Given the description of an element on the screen output the (x, y) to click on. 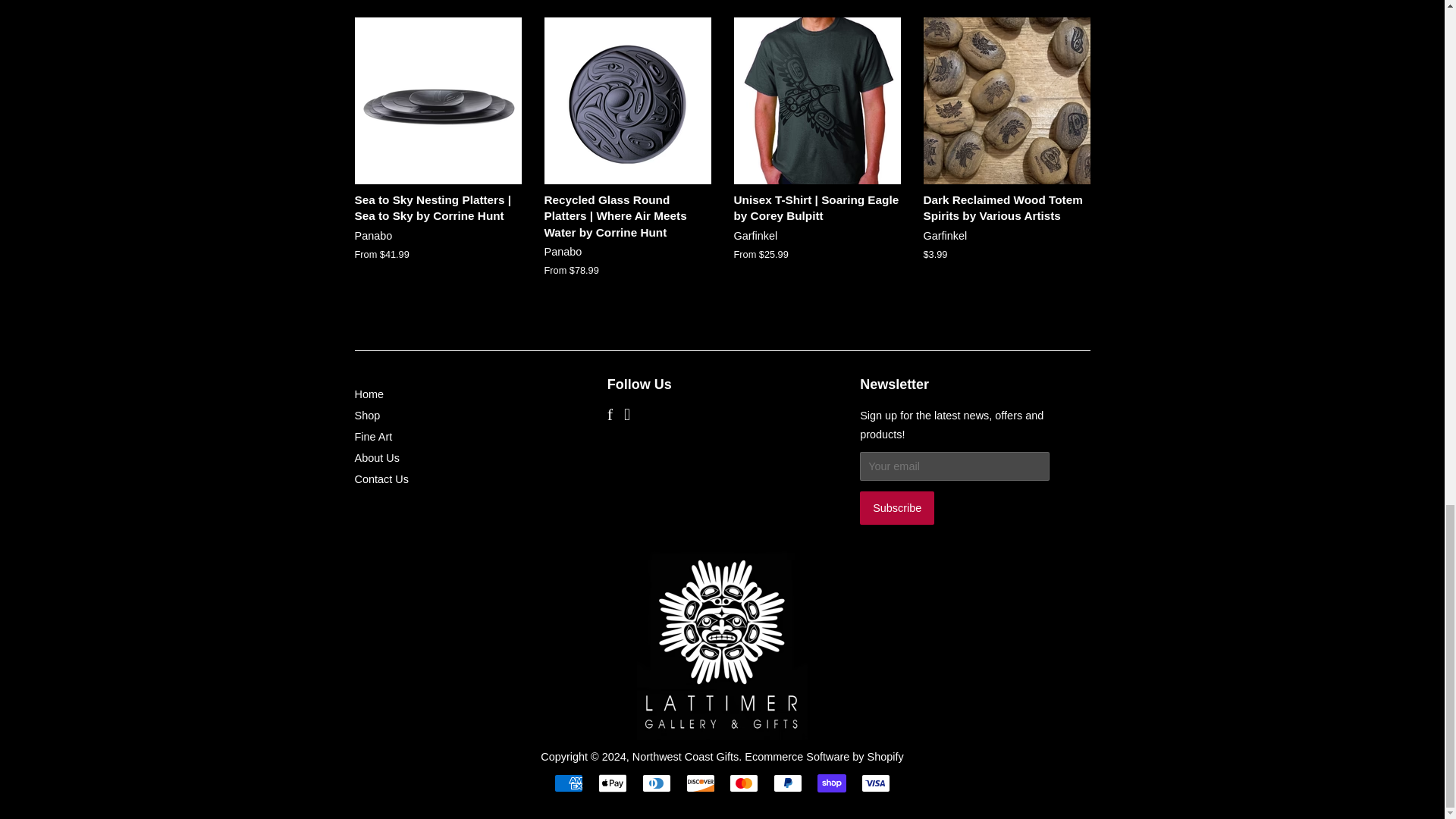
Subscribe (897, 507)
Discover (699, 782)
Visa (875, 782)
American Express (568, 782)
Apple Pay (612, 782)
Mastercard (743, 782)
Diners Club (656, 782)
PayPal (787, 782)
Shop Pay (830, 782)
